Given the description of an element on the screen output the (x, y) to click on. 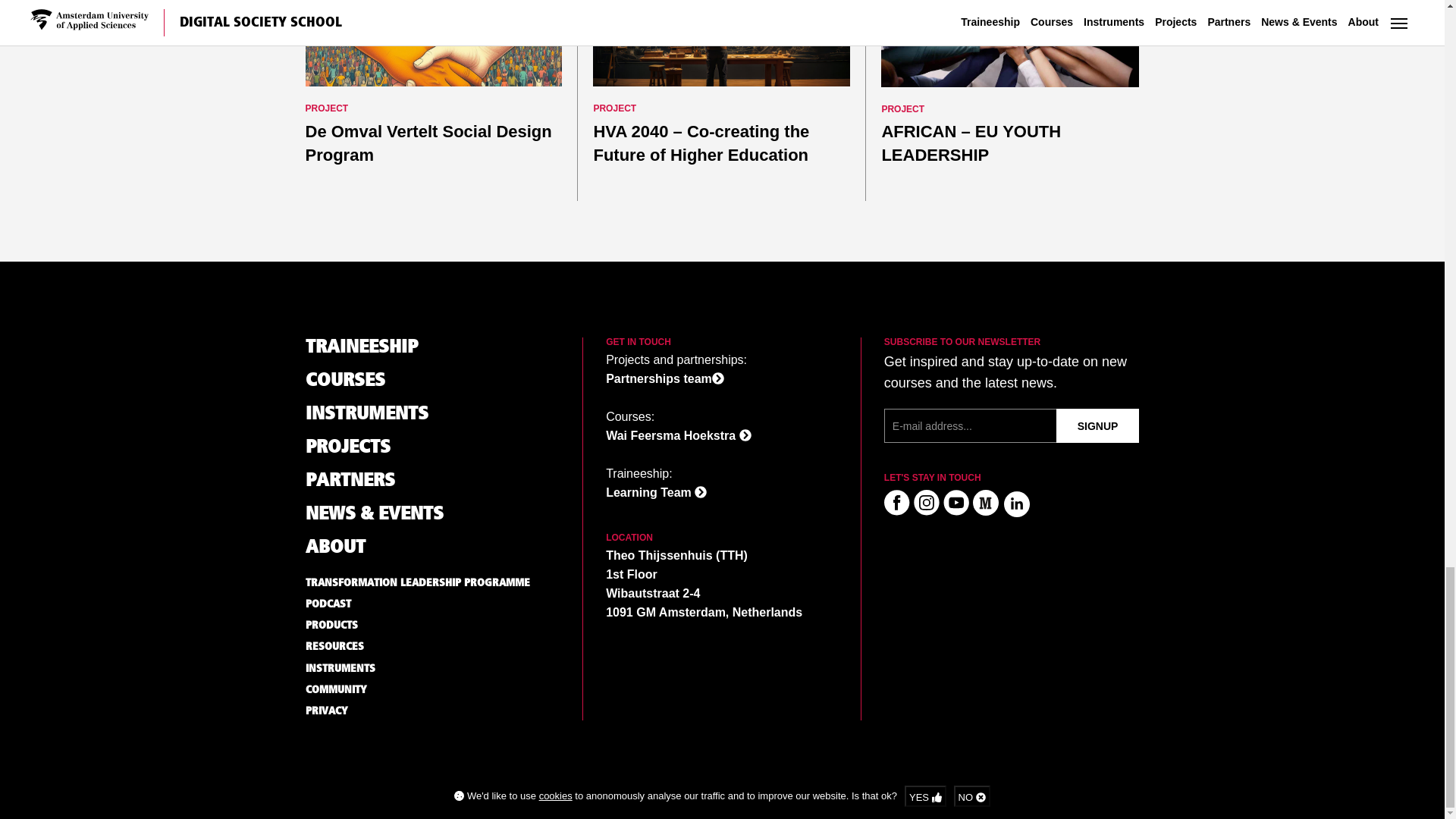
INSTRUMENTS (366, 10)
COMMUNITY (360, 33)
PRIVACY (345, 56)
